Given the description of an element on the screen output the (x, y) to click on. 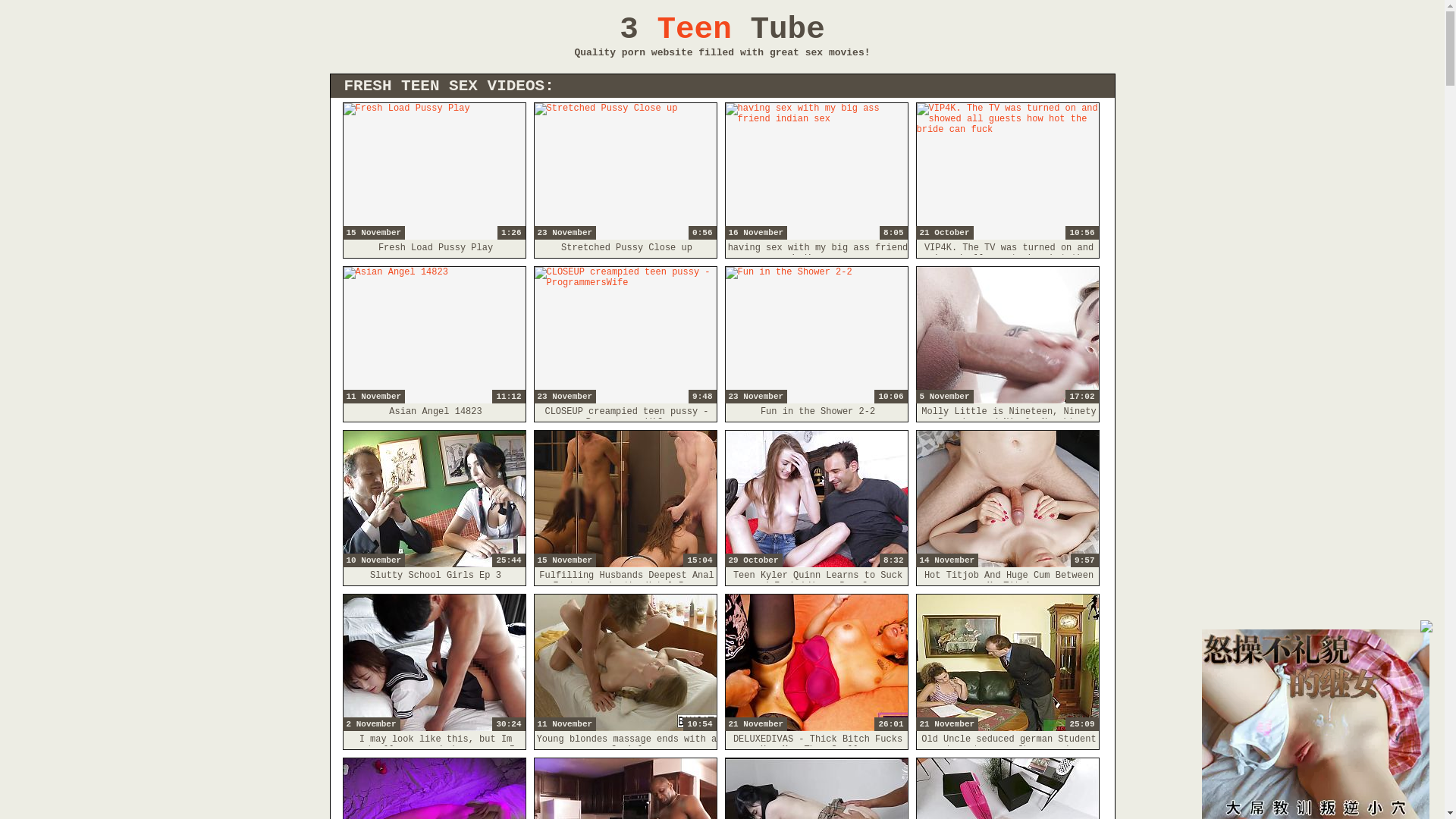
25:44
10 November
Slutty School Girls Ep 3 Element type: text (433, 498)
11:12
11 November
Asian Angel 14823 Element type: text (433, 334)
9:57
14 November
Hot Titjob And Huge Cum Between My Tits! Element type: text (1007, 498)
3 Teen Tube Element type: text (722, 29)
10:06
23 November
Fun in the Shower 2-2 Element type: text (815, 334)
1:26
15 November
Fresh Load Pussy Play Element type: text (433, 171)
10:54
11 November
Young blondes massage ends with a facial Element type: text (624, 662)
0:56
23 November
Stretched Pussy Close up Element type: text (624, 171)
